Given the description of an element on the screen output the (x, y) to click on. 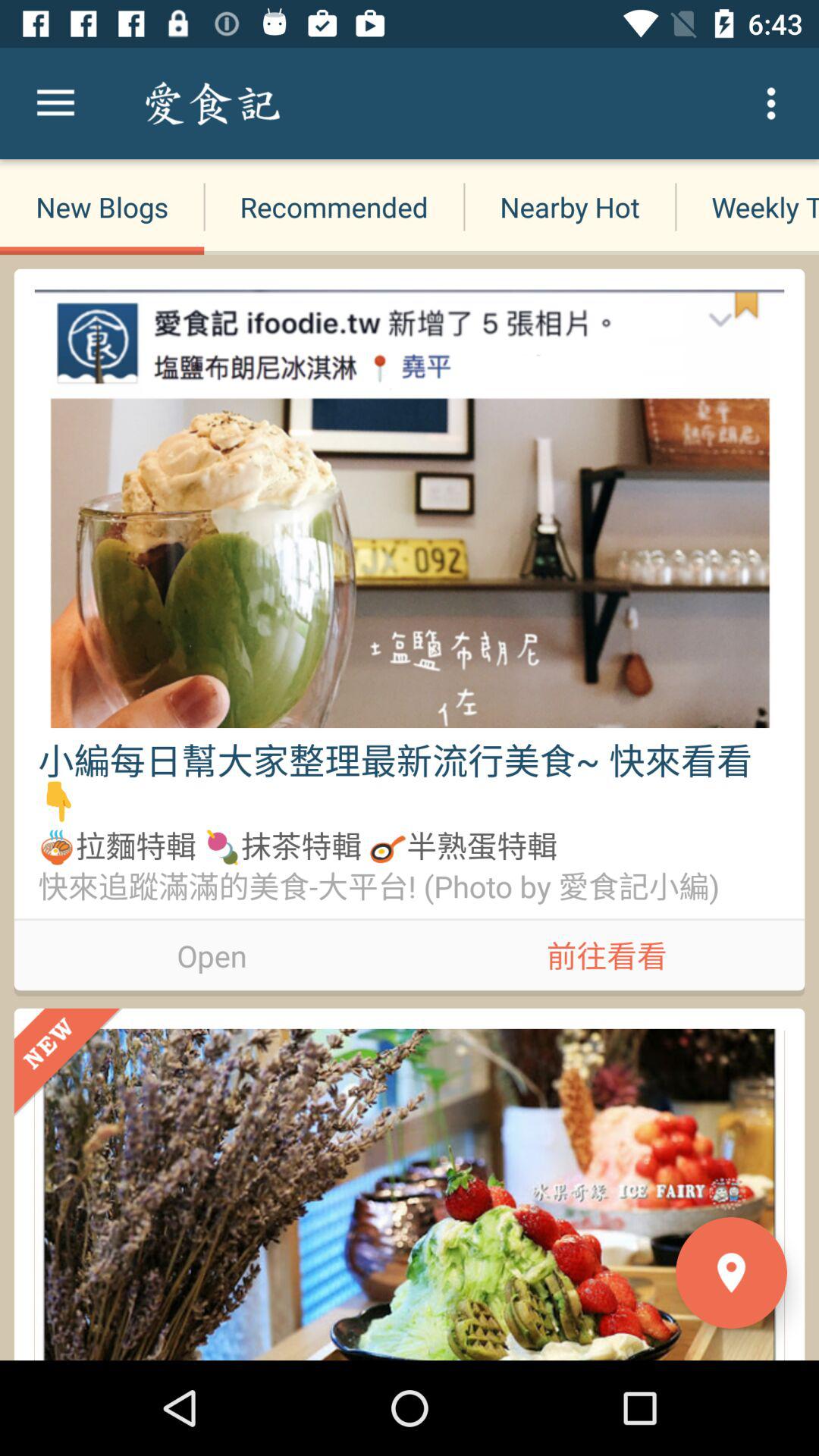
open icon to the left of the nearby hot item (334, 206)
